Given the description of an element on the screen output the (x, y) to click on. 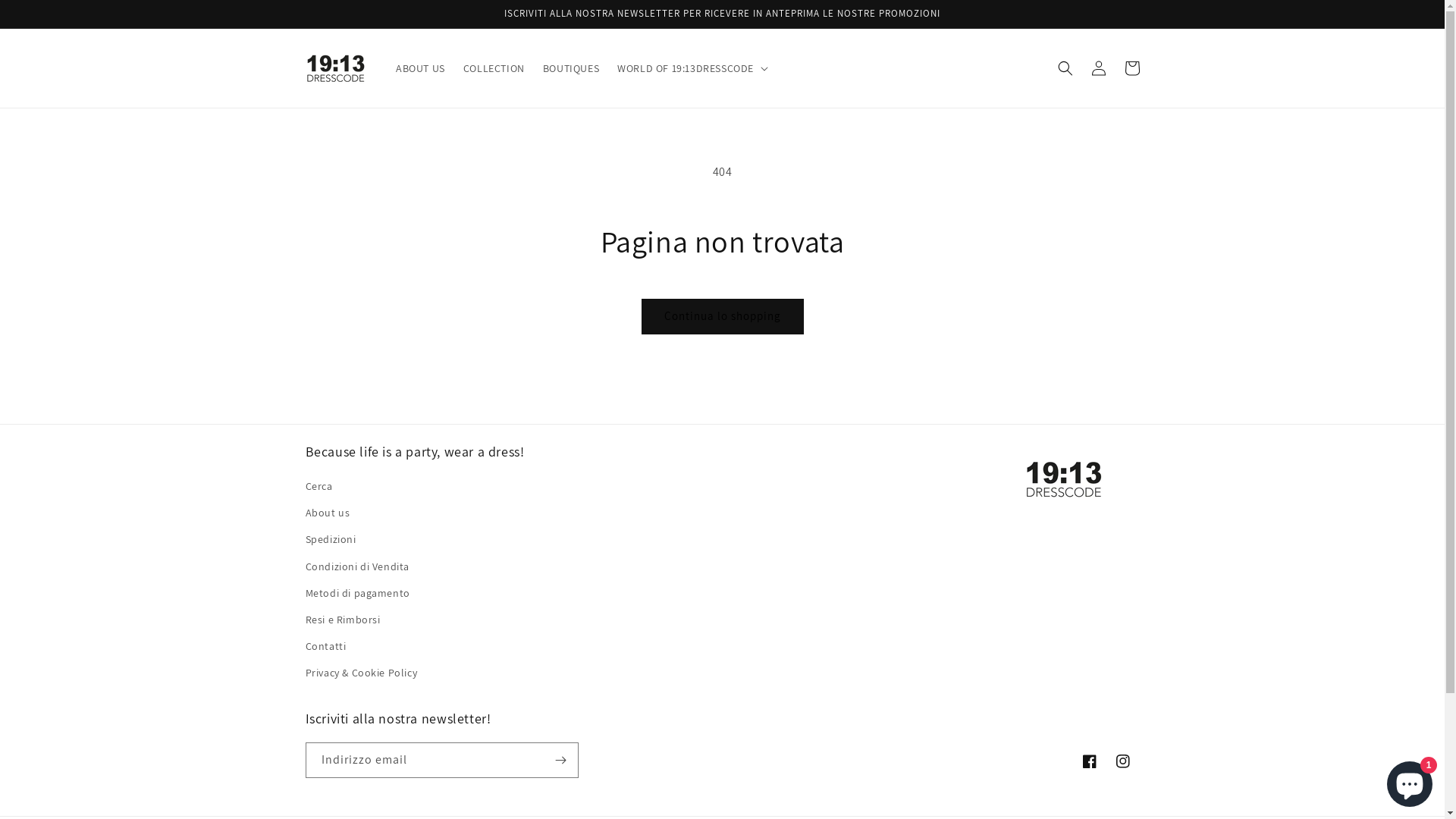
Accedi Element type: text (1097, 67)
Carrello Element type: text (1131, 67)
About us Element type: text (326, 512)
Chat negozio online di Shopify Element type: hover (1409, 780)
Contatti Element type: text (324, 646)
COLLECTION Element type: text (493, 68)
Continua lo shopping Element type: text (722, 316)
BOUTIQUES Element type: text (570, 68)
ABOUT US Element type: text (420, 68)
Facebook Element type: text (1088, 761)
Privacy & Cookie Policy Element type: text (360, 672)
Spedizioni Element type: text (329, 539)
Cerca Element type: text (318, 487)
Metodi di pagamento Element type: text (356, 593)
Condizioni di Vendita Element type: text (356, 566)
Resi e Rimborsi Element type: text (341, 619)
Instagram Element type: text (1122, 761)
